Given the description of an element on the screen output the (x, y) to click on. 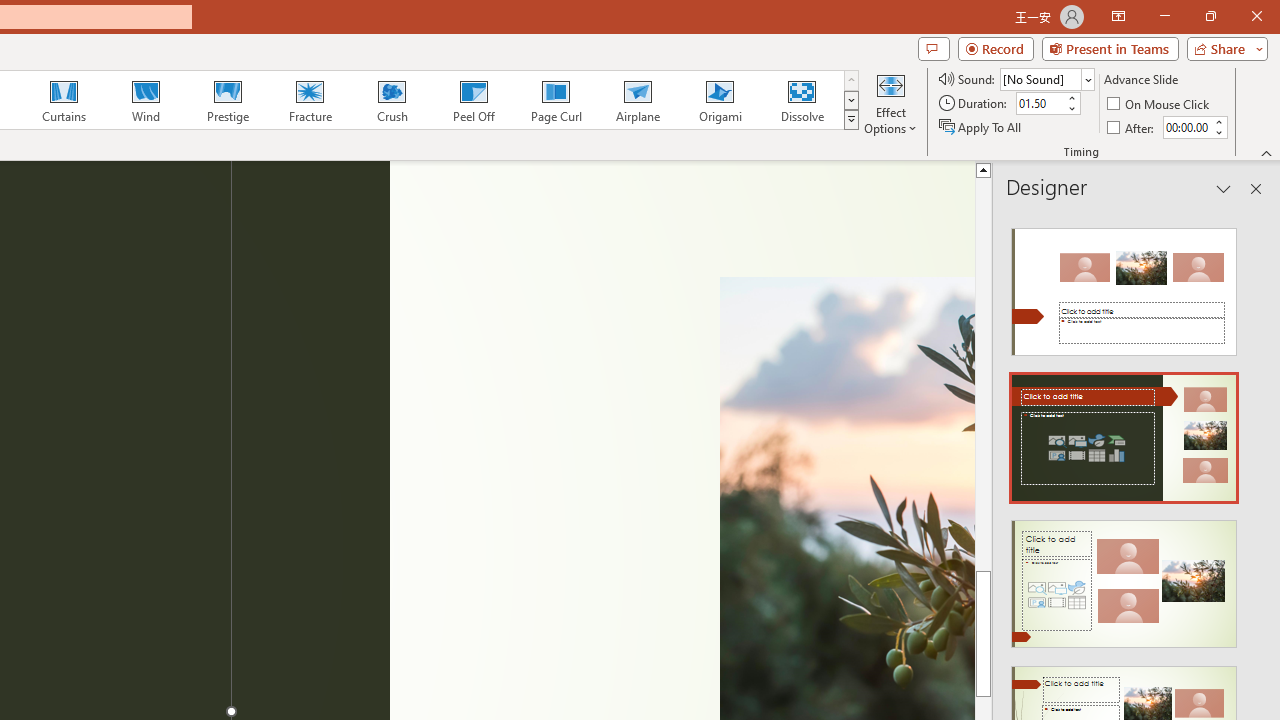
Transition Effects (850, 120)
After (1186, 127)
Recommended Design: Design Idea (1124, 286)
Fracture (309, 100)
After (1131, 126)
Open (1087, 79)
Page Curl (555, 100)
Sound (1046, 78)
